Given the description of an element on the screen output the (x, y) to click on. 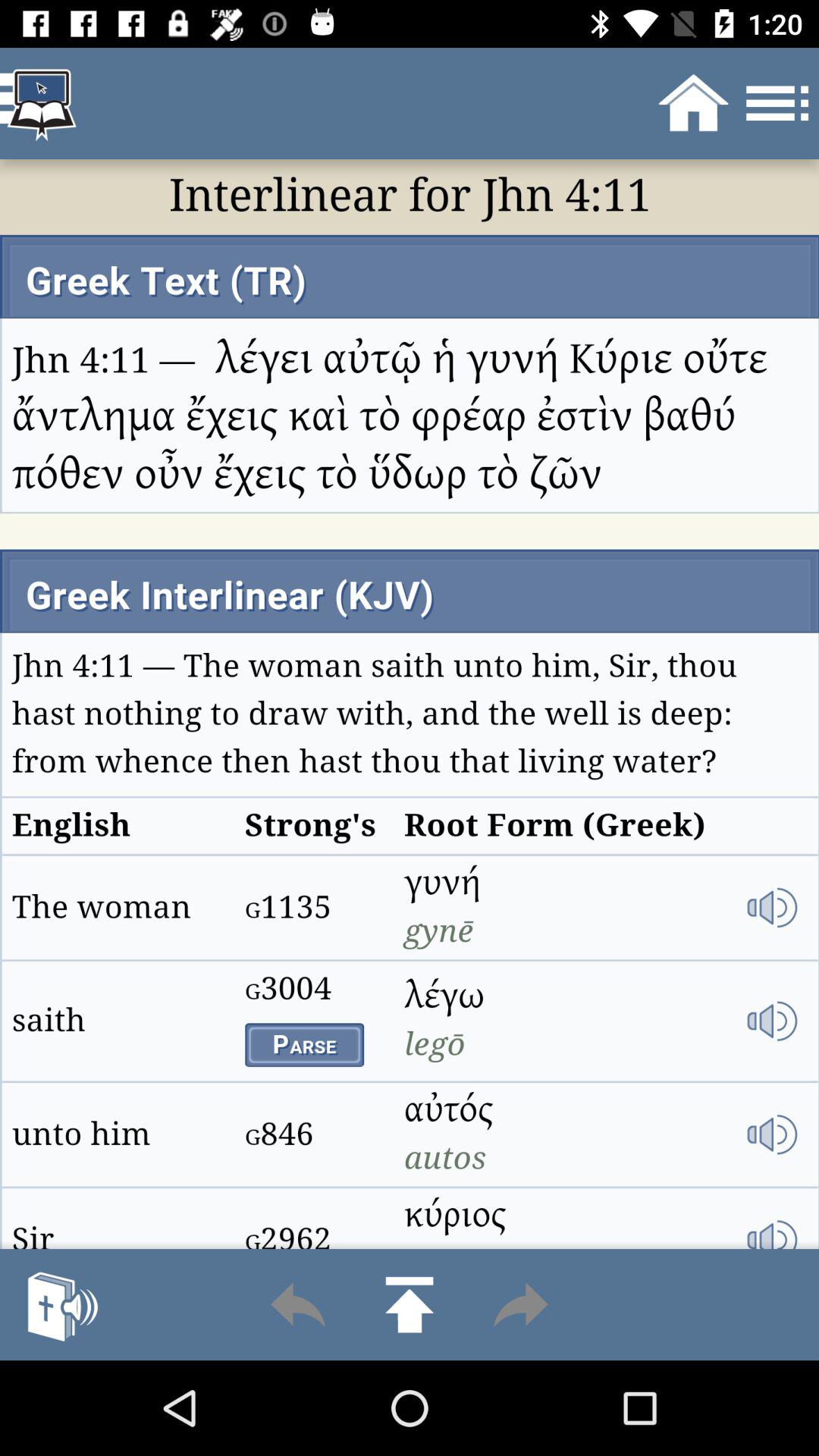
next page (520, 1304)
